Given the description of an element on the screen output the (x, y) to click on. 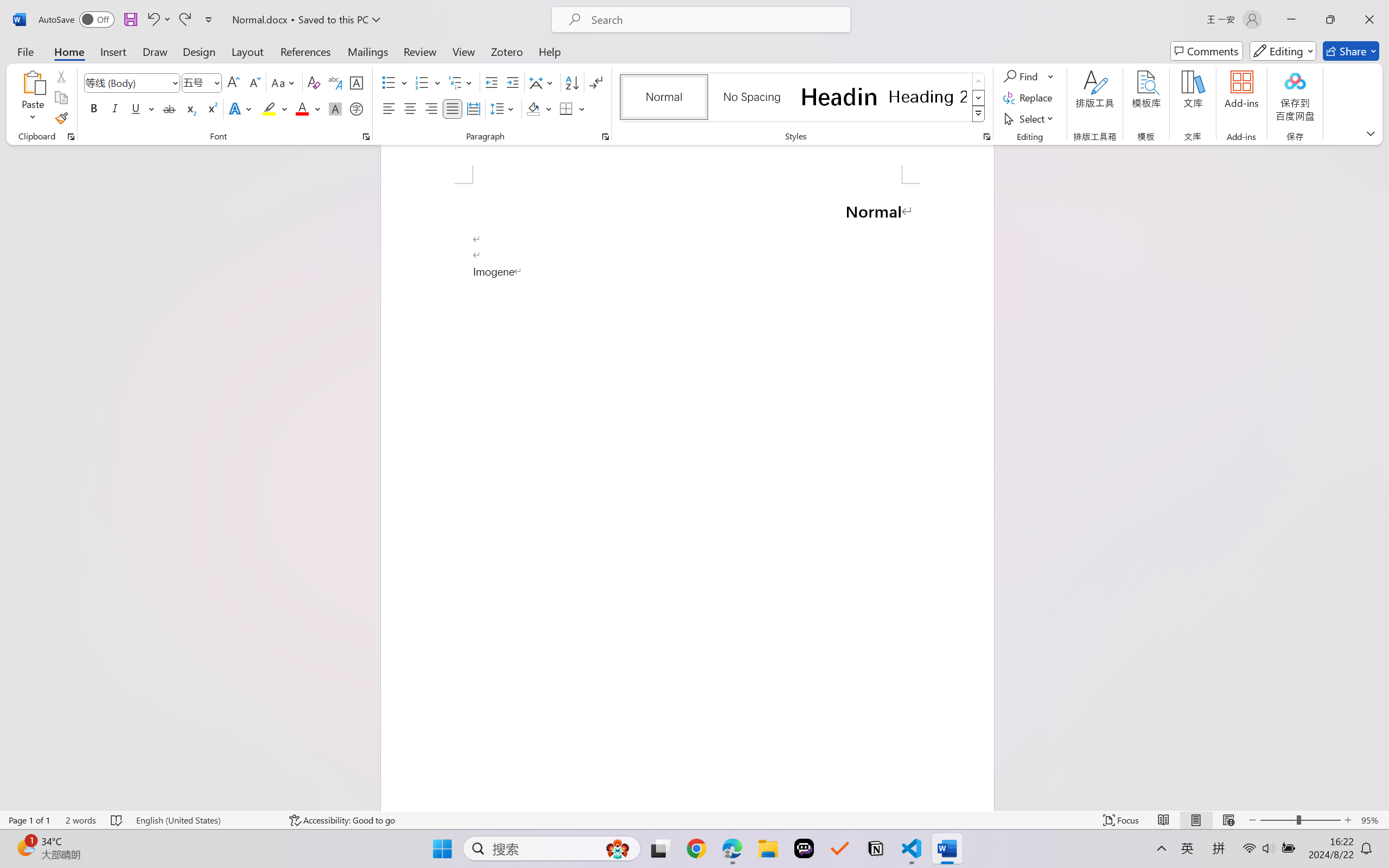
Clear Formatting (313, 82)
Align Right (431, 108)
Distributed (473, 108)
Microsoft search (715, 19)
Heading 1 (839, 96)
Sort... (571, 82)
